Given the description of an element on the screen output the (x, y) to click on. 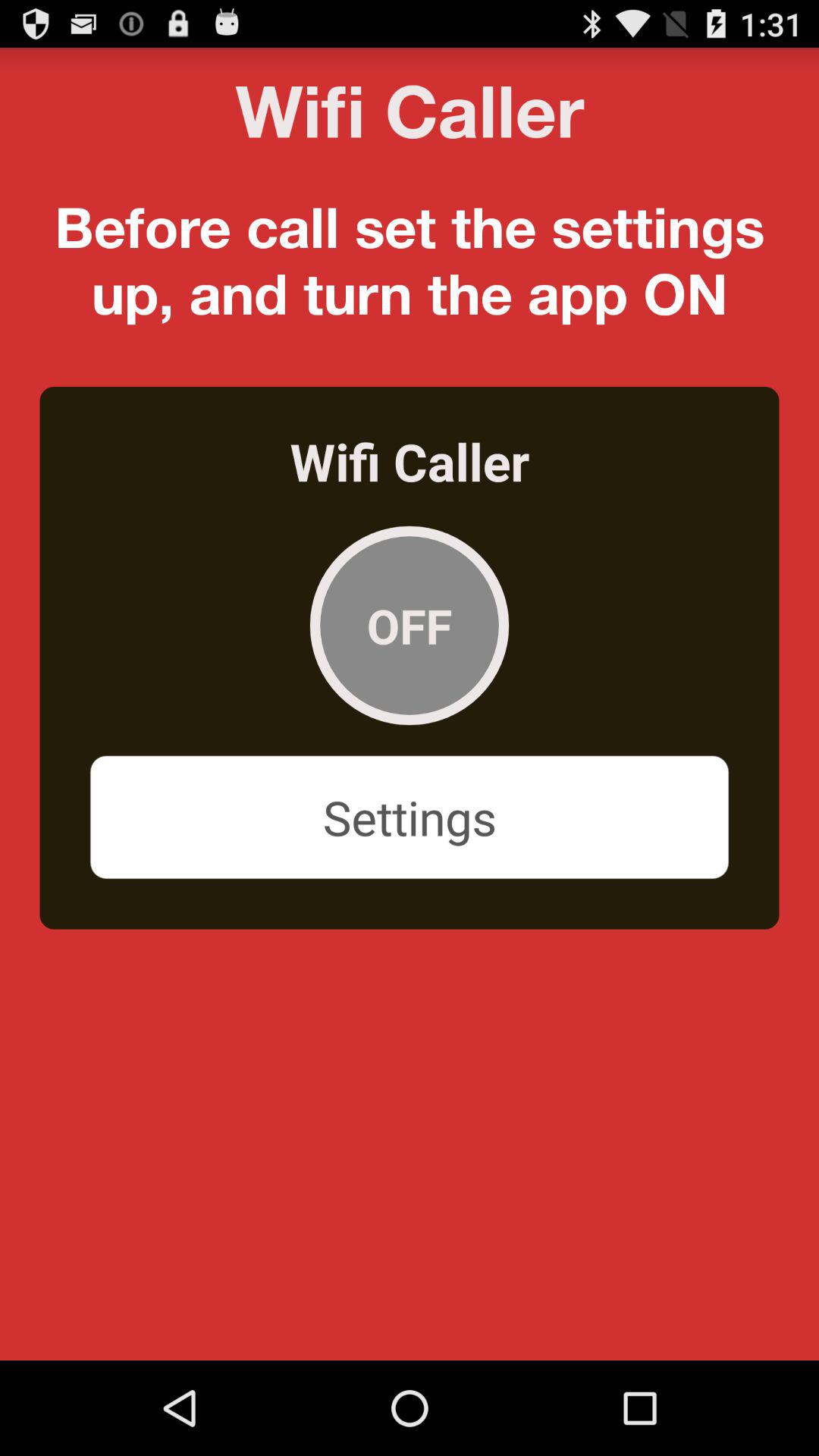
choose item above the settings icon (409, 625)
